Given the description of an element on the screen output the (x, y) to click on. 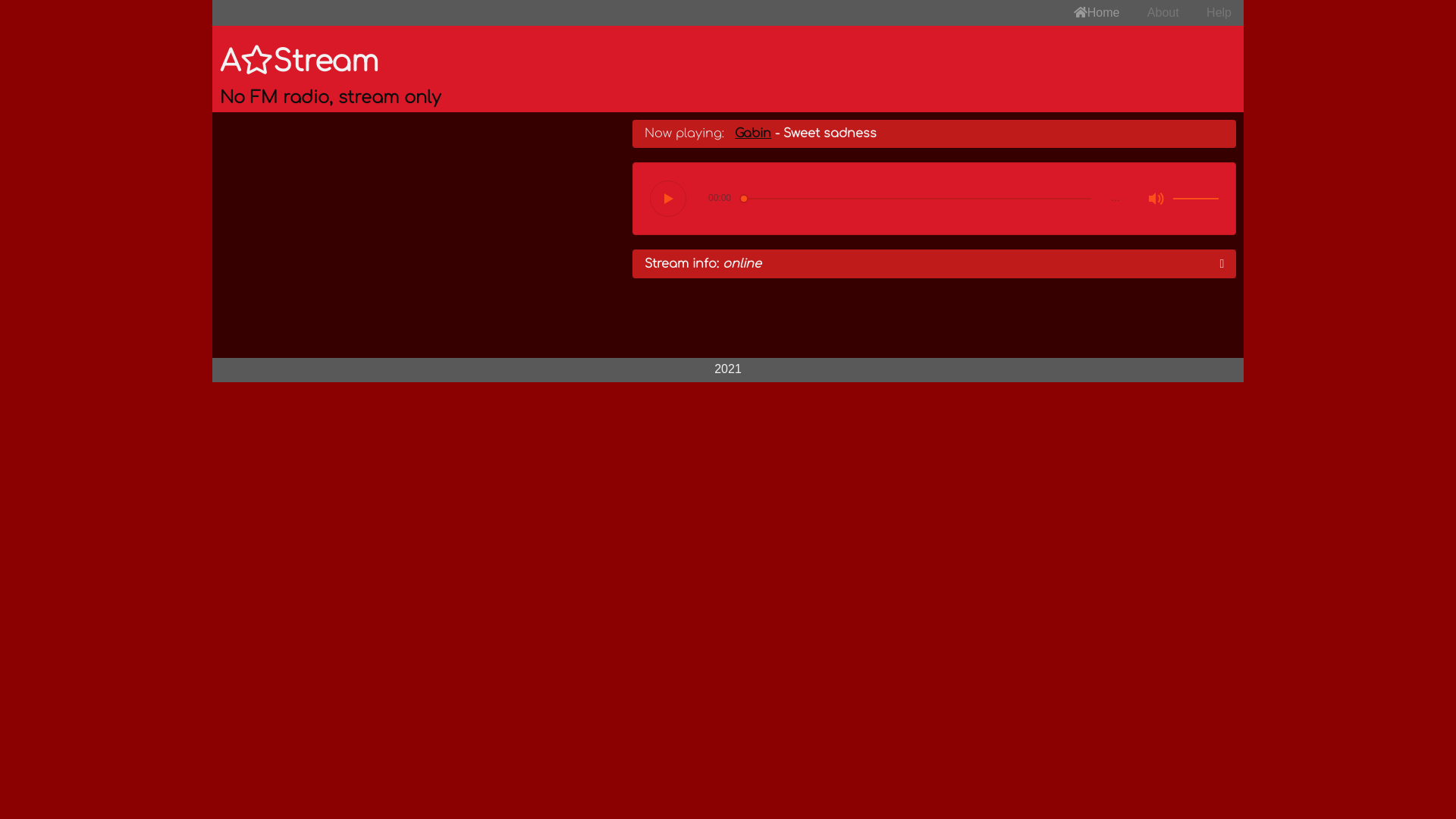
Gabin Element type: text (752, 133)
Gabin Element type: hover (418, 233)
Help Element type: text (1218, 12)
About Element type: text (1163, 12)
